Given the description of an element on the screen output the (x, y) to click on. 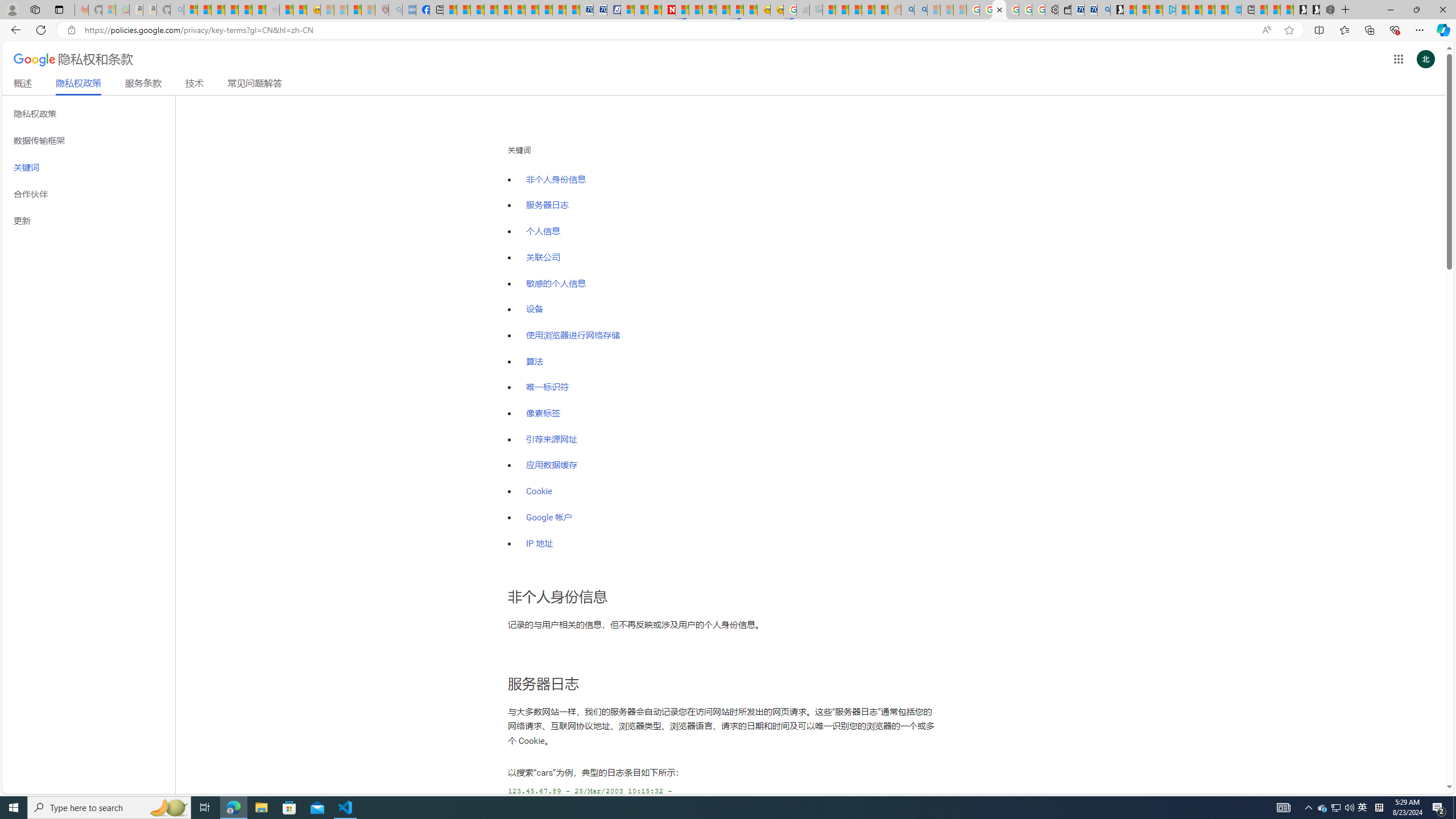
Wallet (1063, 9)
Combat Siege - Sleeping (271, 9)
